Given the description of an element on the screen output the (x, y) to click on. 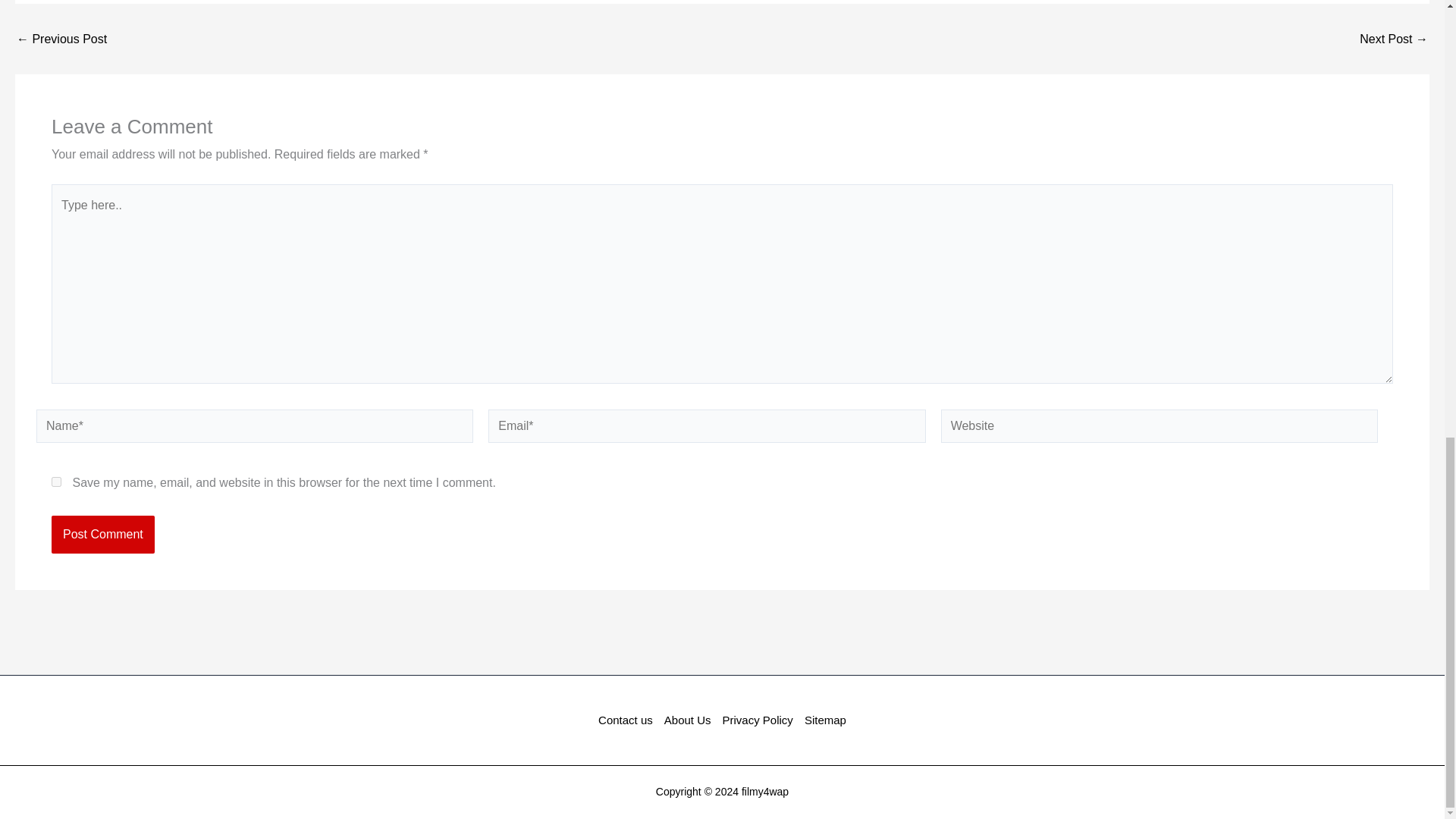
yes (55, 481)
Privacy Policy (756, 720)
Sitemap (821, 720)
Veduka (1393, 39)
Contact us (628, 720)
Prema Lokam (61, 39)
Post Comment (102, 534)
Post Comment (102, 534)
About Us (687, 720)
